Given the description of an element on the screen output the (x, y) to click on. 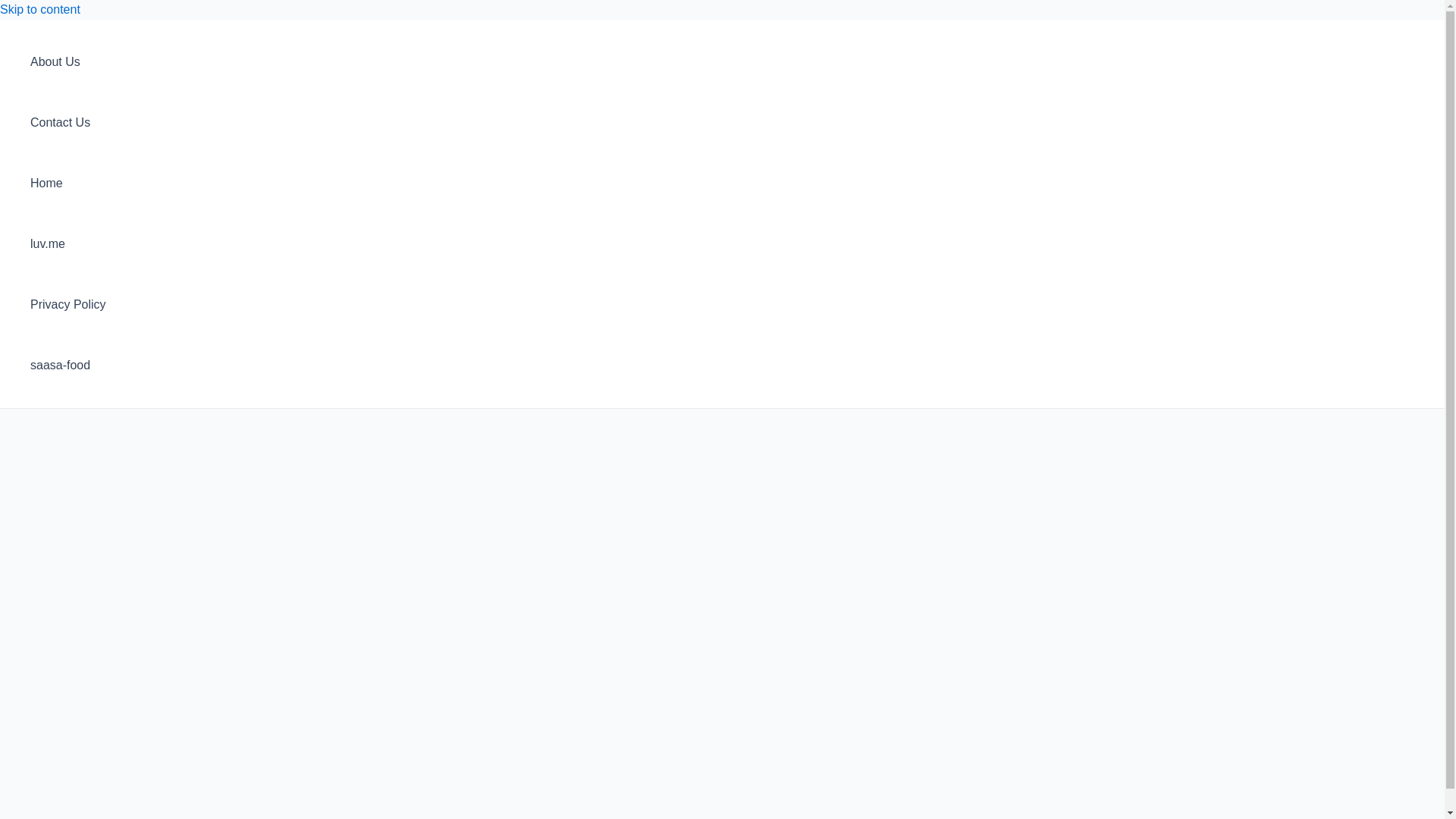
Home (68, 183)
luv.me (68, 243)
About Us (68, 61)
Skip to content (40, 9)
Privacy Policy (68, 304)
Skip to content (40, 9)
Contact Us (68, 122)
saasa-food (68, 364)
